Given the description of an element on the screen output the (x, y) to click on. 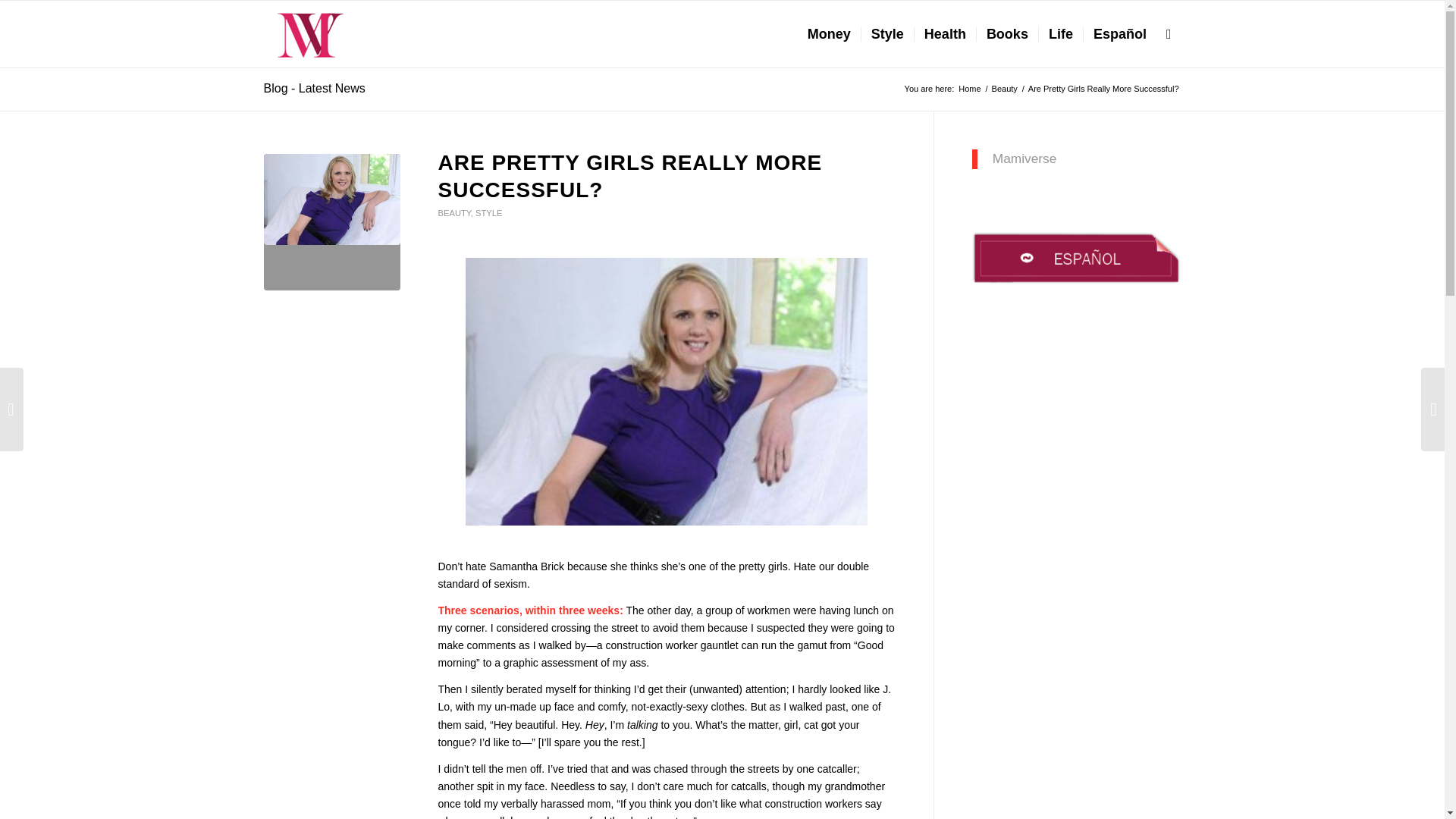
Money (828, 33)
Permanent Link: Are Pretty Girls Really More Successful? (630, 175)
Books (1006, 33)
Permanent Link: Blog - Latest News (314, 88)
Blog - Latest News (314, 88)
Home (969, 89)
Mamiverse (969, 89)
Are-Pretty-Girls-Really-More-Successful-MainPhoto (331, 221)
ARE PRETTY GIRLS REALLY MORE SUCCESSFUL? (630, 175)
STYLE (489, 212)
BEAUTY (454, 212)
Health (944, 33)
Beauty (1005, 89)
Mamiverse (1024, 158)
